Given the description of an element on the screen output the (x, y) to click on. 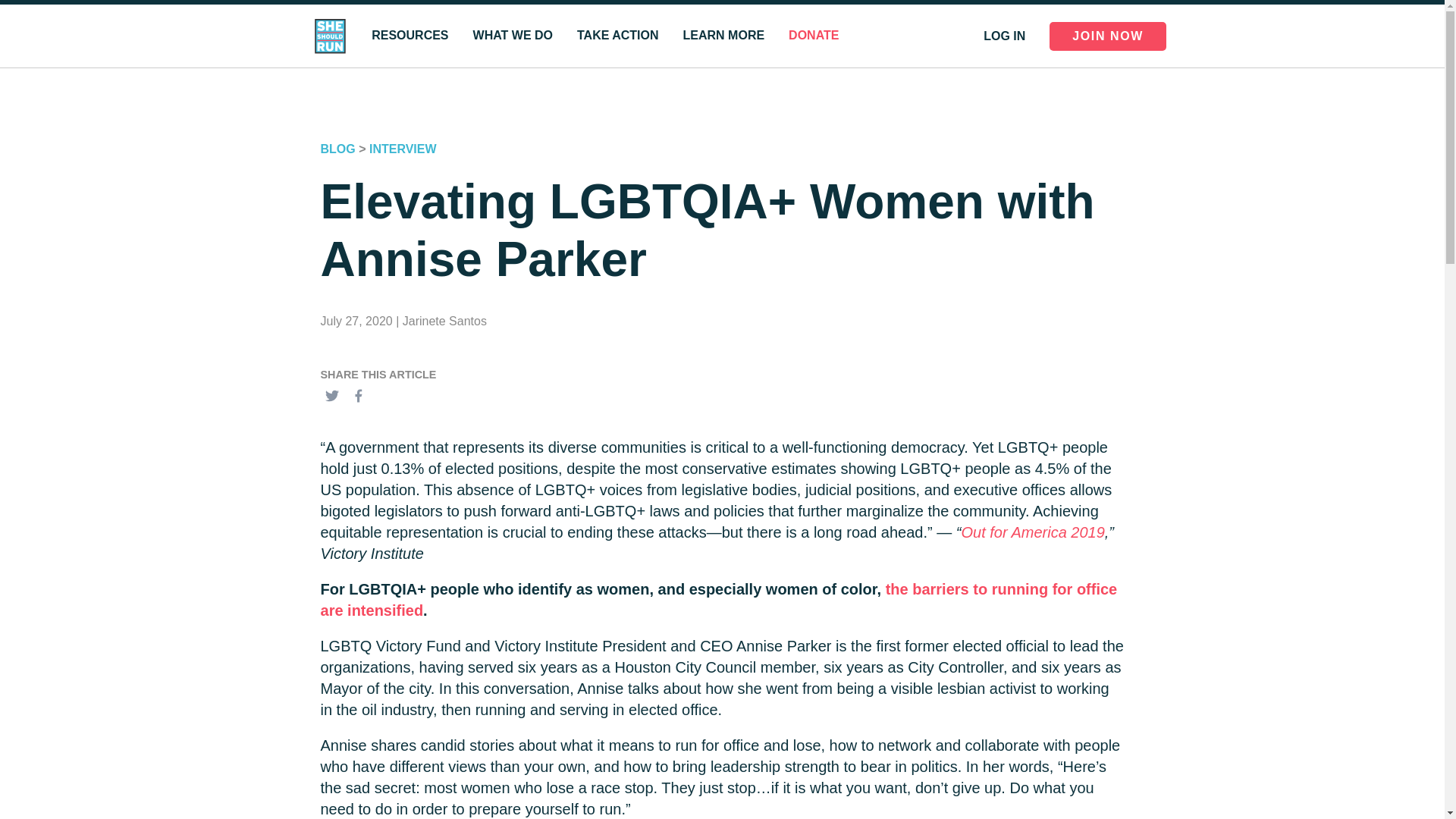
Out for America 2019 (1031, 532)
re intensified (376, 610)
BLOG (337, 148)
INTERVIEW (402, 148)
TAKE ACTION (617, 35)
WHAT WE DO (513, 35)
RESOURCES (409, 35)
She Should Run Community (1014, 33)
the barriers to running for office a (718, 599)
LEARN MORE (723, 35)
